Given the description of an element on the screen output the (x, y) to click on. 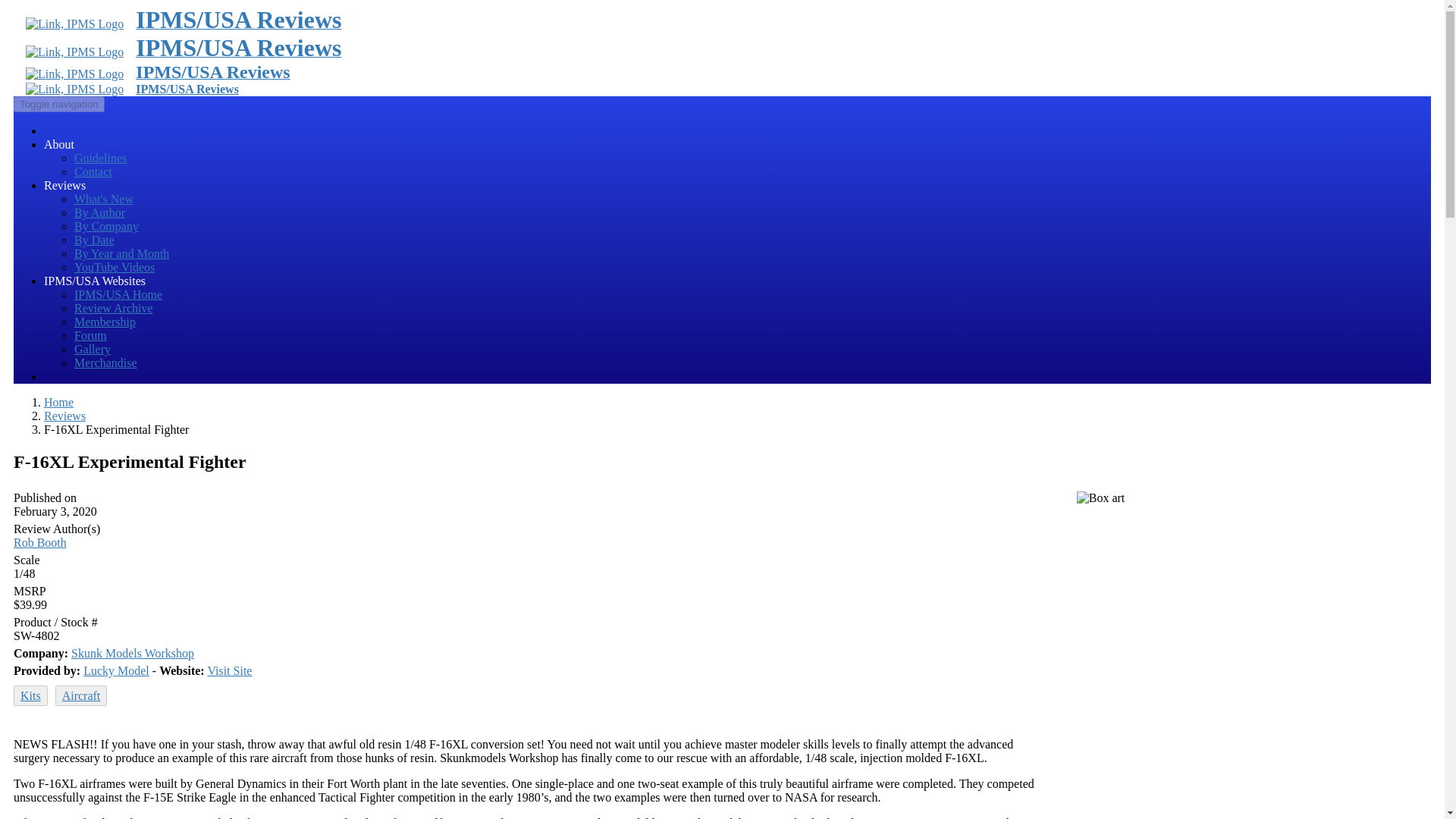
Kits (30, 695)
Review Archive (113, 308)
Visit Site (228, 670)
Rob Booth (39, 542)
Reviewers' Corps Membership and Product Review Guidelines (100, 157)
Merchandise (105, 362)
Membership (104, 321)
By Date (94, 239)
By Company (106, 226)
Contact (93, 171)
